Given the description of an element on the screen output the (x, y) to click on. 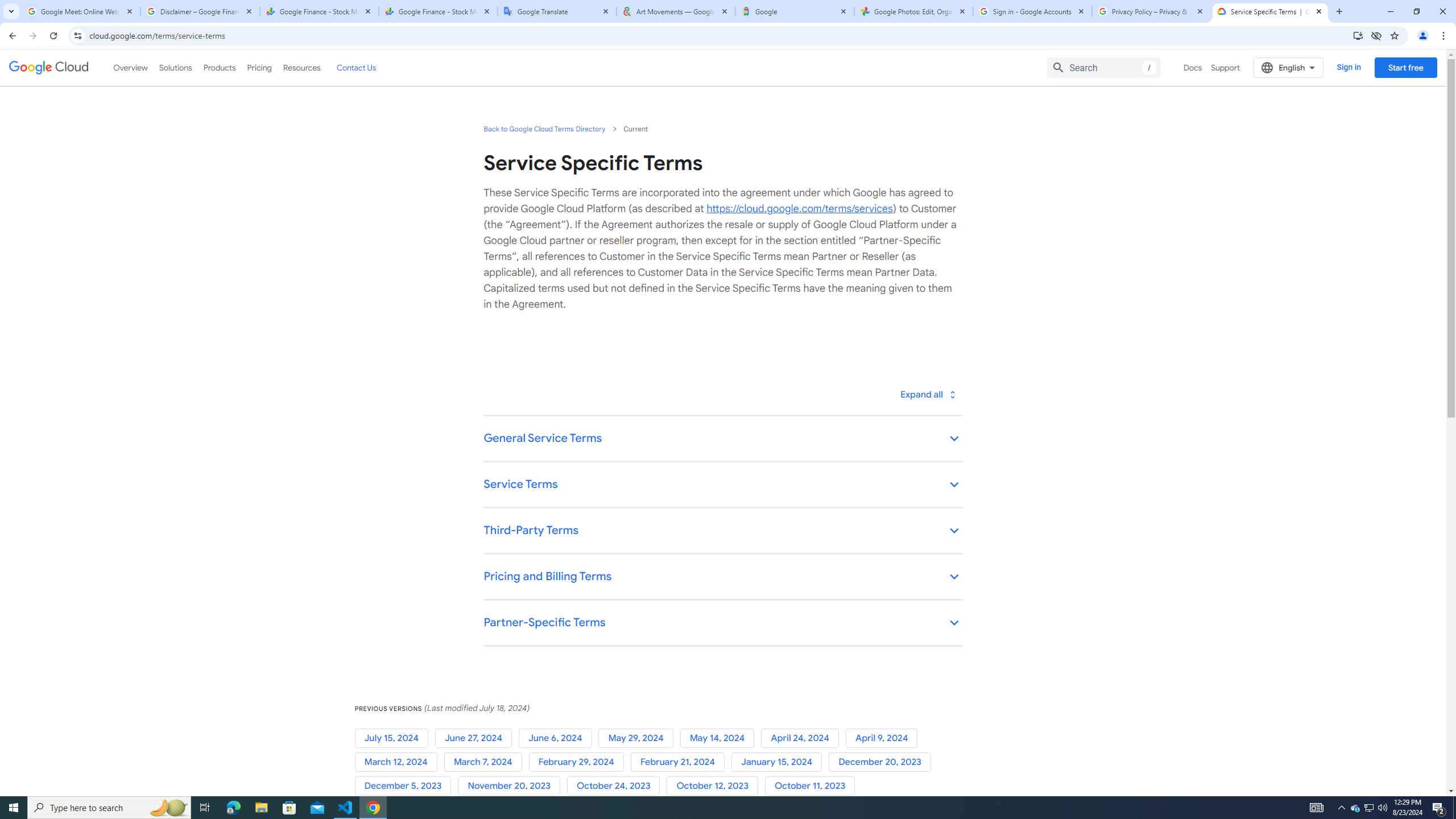
December 5, 2023 (405, 786)
Google Translate (556, 11)
April 9, 2024 (883, 737)
Pricing (259, 67)
Contact Us (355, 67)
July 15, 2024 (394, 737)
February 29, 2024 (579, 761)
Products (218, 67)
Google (794, 11)
